Given the description of an element on the screen output the (x, y) to click on. 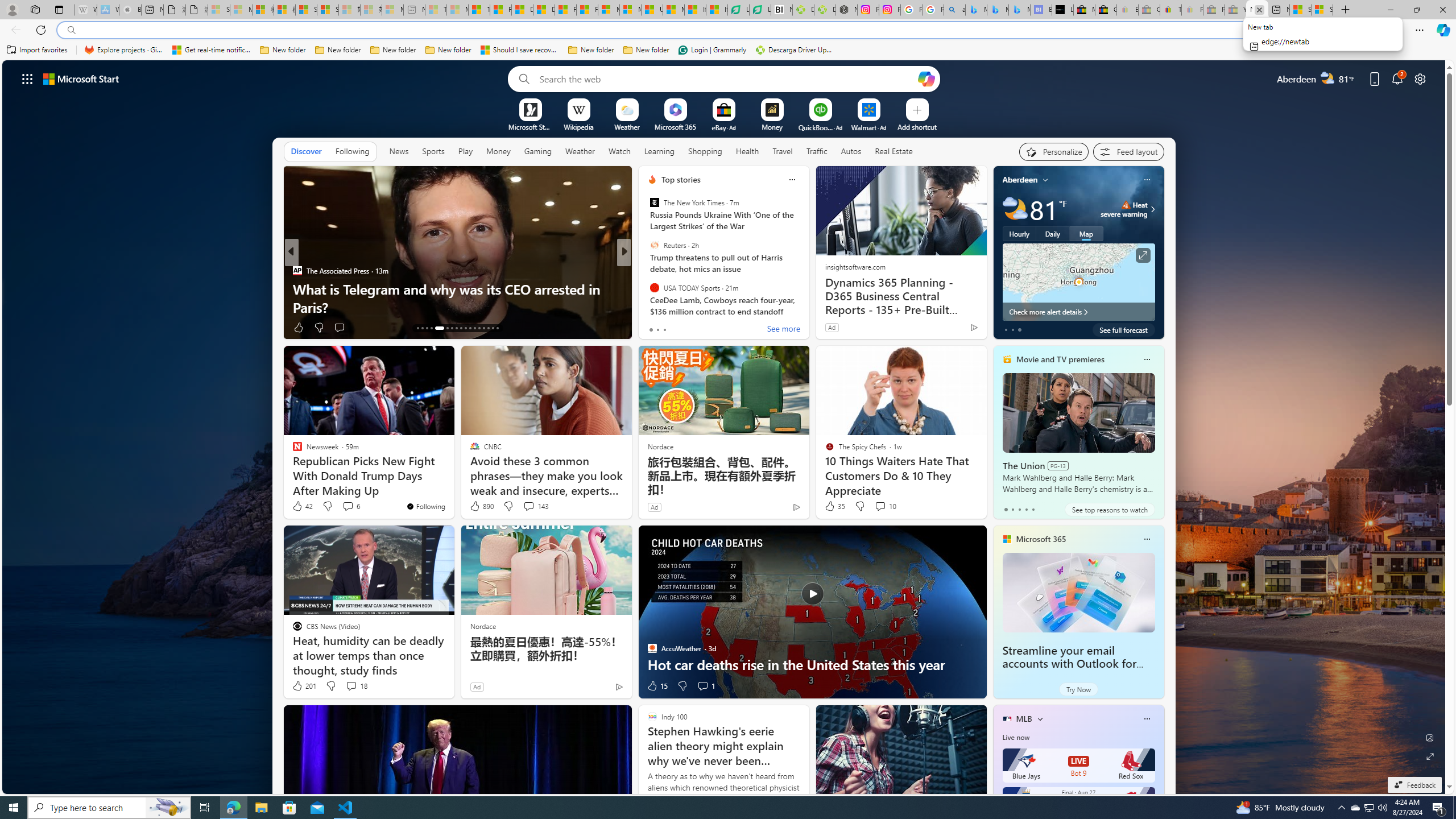
Salon (647, 270)
Edit Background (1430, 737)
Travel (782, 151)
House Beautiful (647, 270)
Weather (580, 151)
Discover (306, 151)
IT Concept (658, 288)
Weather (579, 151)
221 Like (654, 327)
View comments 18 Comment (350, 685)
Login | Grammarly (712, 49)
